Given the description of an element on the screen output the (x, y) to click on. 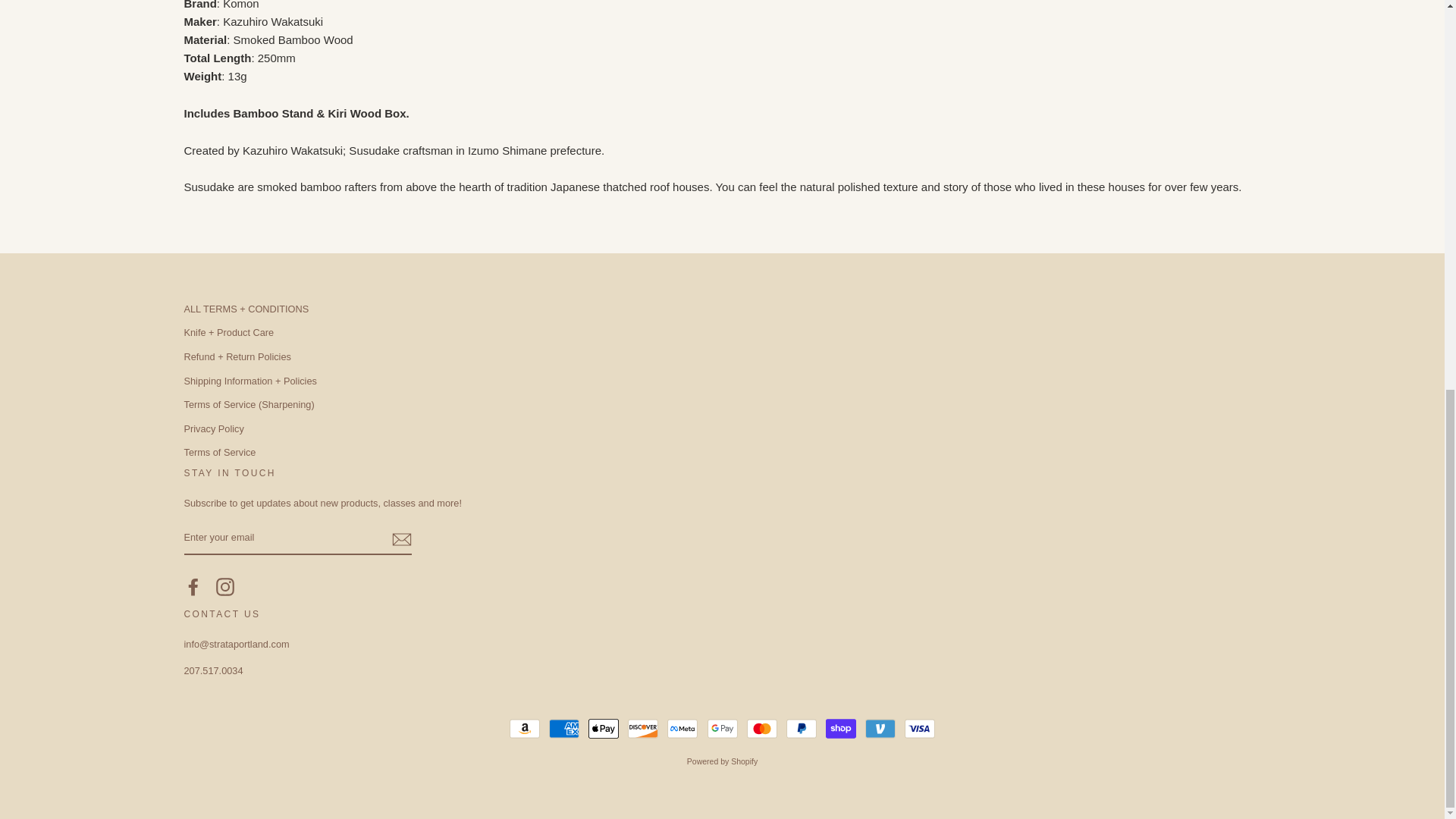
American Express (563, 728)
Google Pay (721, 728)
PayPal (801, 728)
Mastercard (761, 728)
Strata on Facebook (192, 587)
Discover (642, 728)
Amazon (524, 728)
Strata on Instagram (224, 587)
Shop Pay (840, 728)
Meta Pay (681, 728)
